Given the description of an element on the screen output the (x, y) to click on. 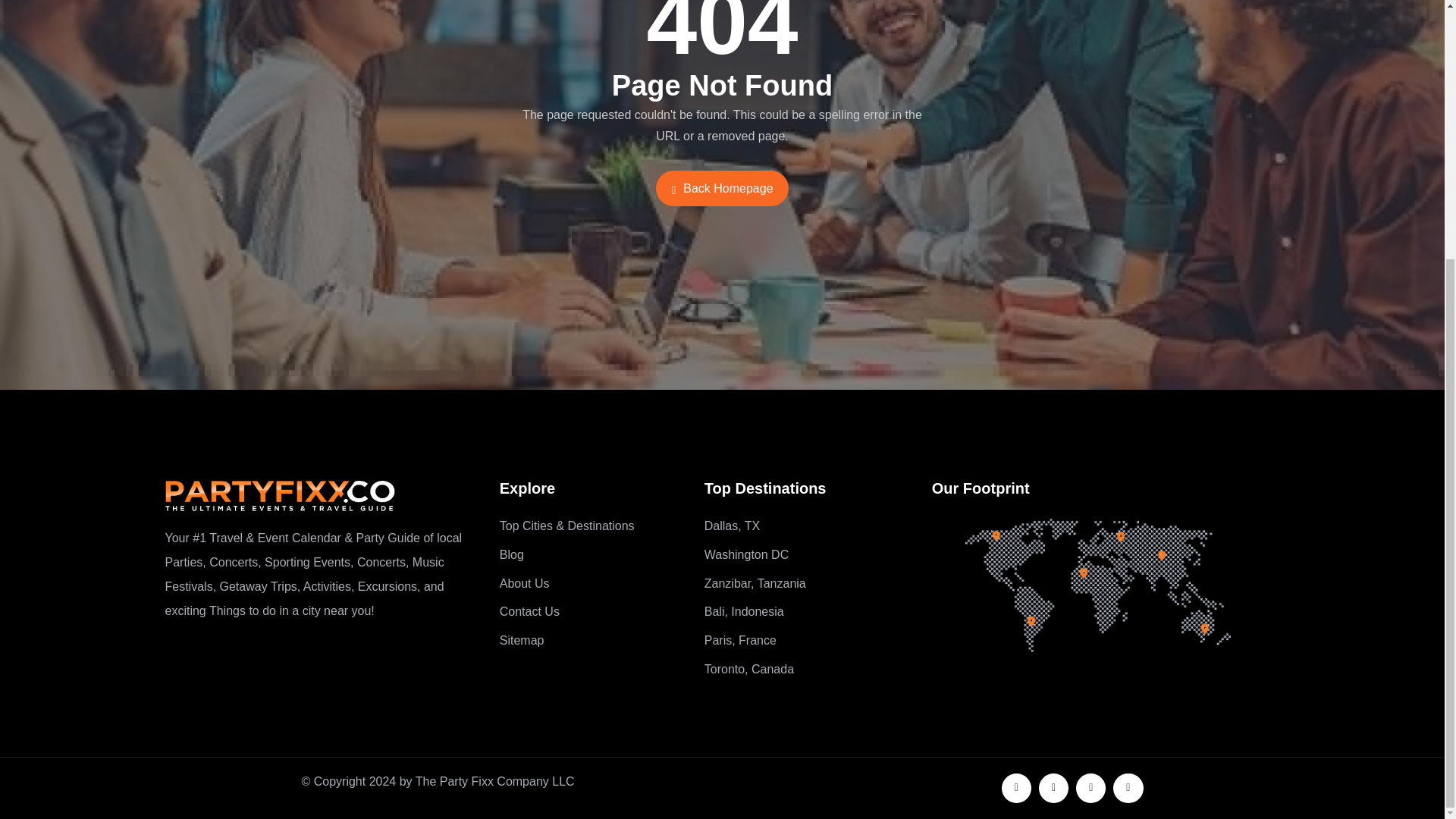
Blog (590, 555)
Paris, France (806, 640)
Back Homepage (721, 188)
Washington DC (806, 555)
Contact Us (590, 612)
Home (279, 495)
Dallas, TX (806, 526)
Zanzibar, Tanzania (806, 584)
About Us (590, 584)
Bali, Indonesia (806, 612)
